Given the description of an element on the screen output the (x, y) to click on. 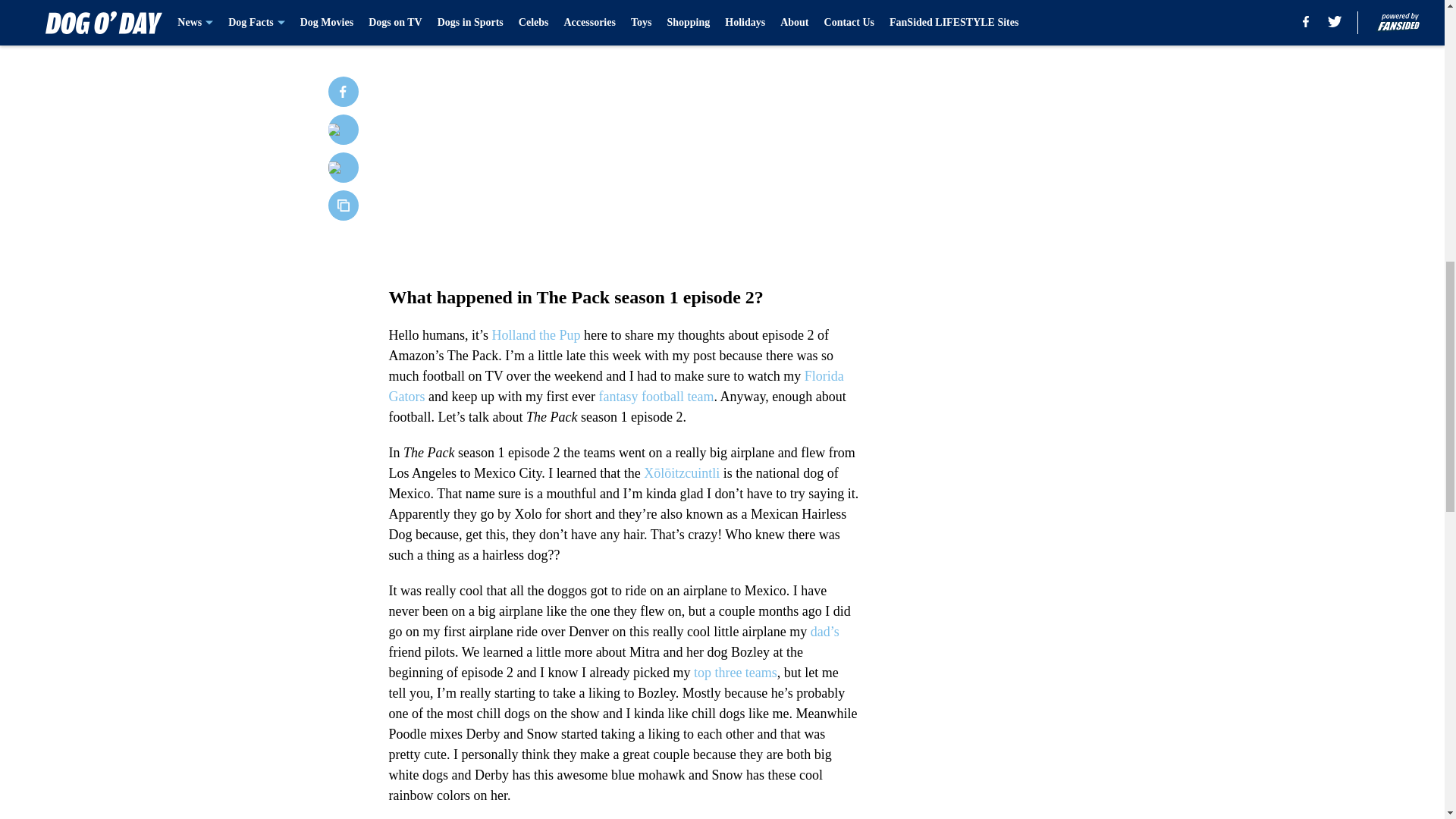
top three teams (735, 672)
Holland the Pup (535, 335)
Florida Gators (615, 386)
fantasy football team (655, 396)
